Given the description of an element on the screen output the (x, y) to click on. 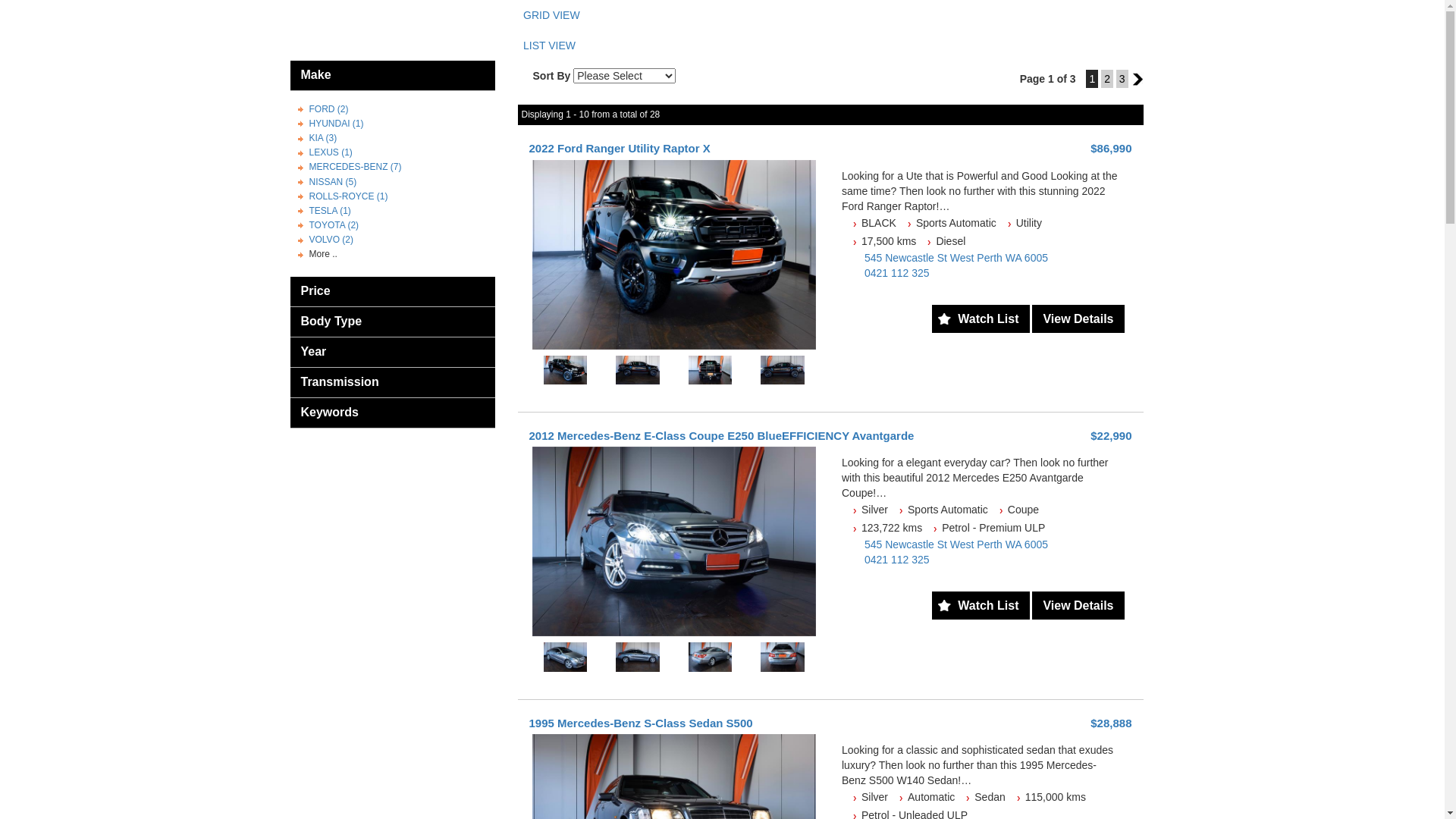
1995 Mercedes-Benz S-Class Sedan S500 Element type: text (641, 722)
2022-Ford-Ranger Element type: hover (564, 369)
FORD (2) Element type: text (328, 108)
KIA (3) Element type: text (323, 137)
2022 Ford Ranger Utility Raptor X Element type: text (619, 147)
Watch List Element type: text (980, 605)
View Details Element type: text (1077, 605)
2012-Mercedes-Benz-E-Class Element type: hover (782, 656)
545 Newcastle St West Perth WA 6005 Element type: text (956, 544)
2012-Mercedes-Benz-E-Class Element type: hover (710, 656)
2012-Mercedes-Benz-E-Class Element type: hover (674, 541)
TOYOTA (2) Element type: text (334, 224)
GRID VIEW Element type: text (832, 15)
TESLA (1) Element type: text (330, 210)
VOLVO (2) Element type: text (331, 239)
Watch List Element type: text (980, 318)
2022-Ford-Ranger Element type: hover (637, 369)
View Details Element type: text (1077, 318)
$86,990 Element type: text (1110, 147)
ROLLS-ROYCE (1) Element type: text (348, 196)
545 Newcastle St West Perth WA 6005 Element type: text (956, 257)
1 Element type: text (1091, 78)
2022-Ford-Ranger Element type: hover (710, 369)
$28,888 Element type: text (1110, 722)
0421 112 325 Element type: text (896, 559)
$22,990 Element type: text (1110, 435)
3 Element type: text (1122, 78)
2 Element type: text (1137, 78)
2022-Ford-Ranger Element type: hover (782, 369)
NISSAN (5) Element type: text (333, 181)
MERCEDES-BENZ (7) Element type: text (355, 166)
LEXUS (1) Element type: text (330, 152)
LIST VIEW Element type: text (832, 45)
2012-Mercedes-Benz-E-Class Element type: hover (637, 656)
2012-Mercedes-Benz-E-Class Element type: hover (564, 656)
HYUNDAI (1) Element type: text (336, 123)
2 Element type: text (1107, 78)
0421 112 325 Element type: text (896, 272)
2022-Ford-Ranger Element type: hover (674, 254)
